Given the description of an element on the screen output the (x, y) to click on. 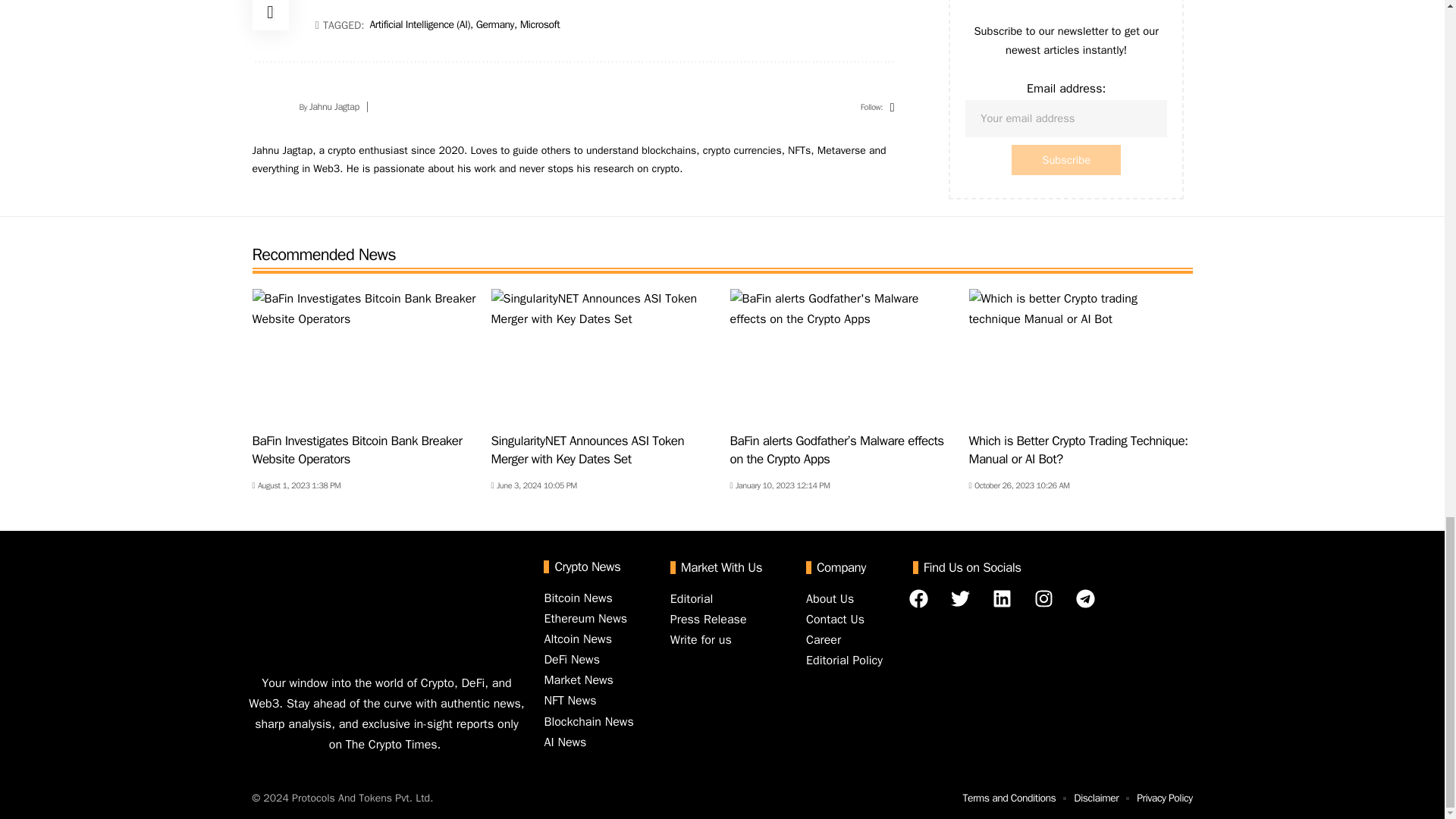
BaFin Investigates Bitcoin Bank Breaker Website Operators (363, 356)
SingularityNET Announces ASI Token Merger with Key Dates Set (603, 356)
Which is Better Crypto Trading Technique: Manual or AI Bot? (1080, 356)
